Given the description of an element on the screen output the (x, y) to click on. 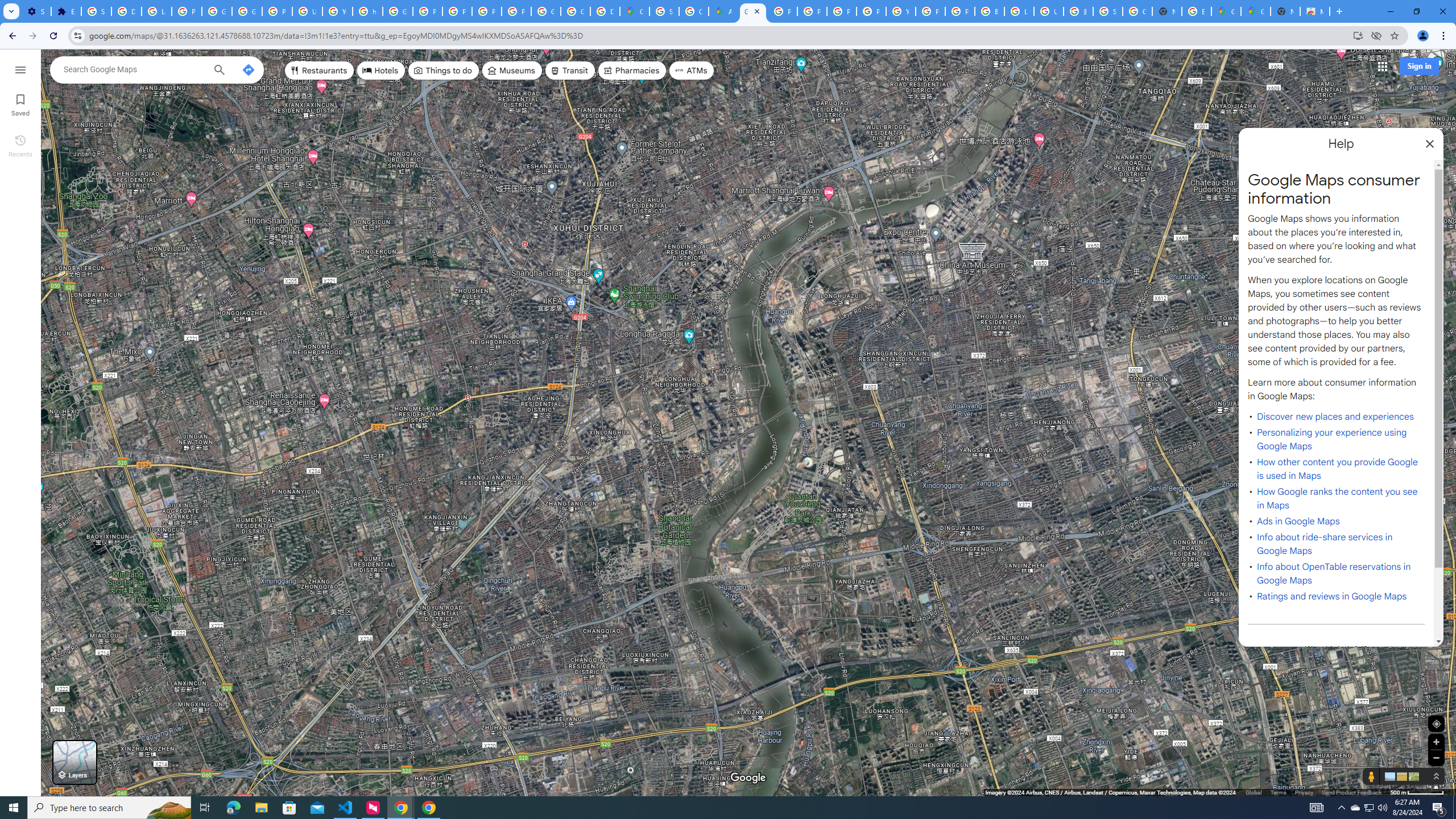
Privacy Help Center - Policies Help (841, 11)
Show Street View coverage (1371, 776)
Google Account Help (216, 11)
Google Maps (1255, 11)
Saved (20, 104)
